Given the description of an element on the screen output the (x, y) to click on. 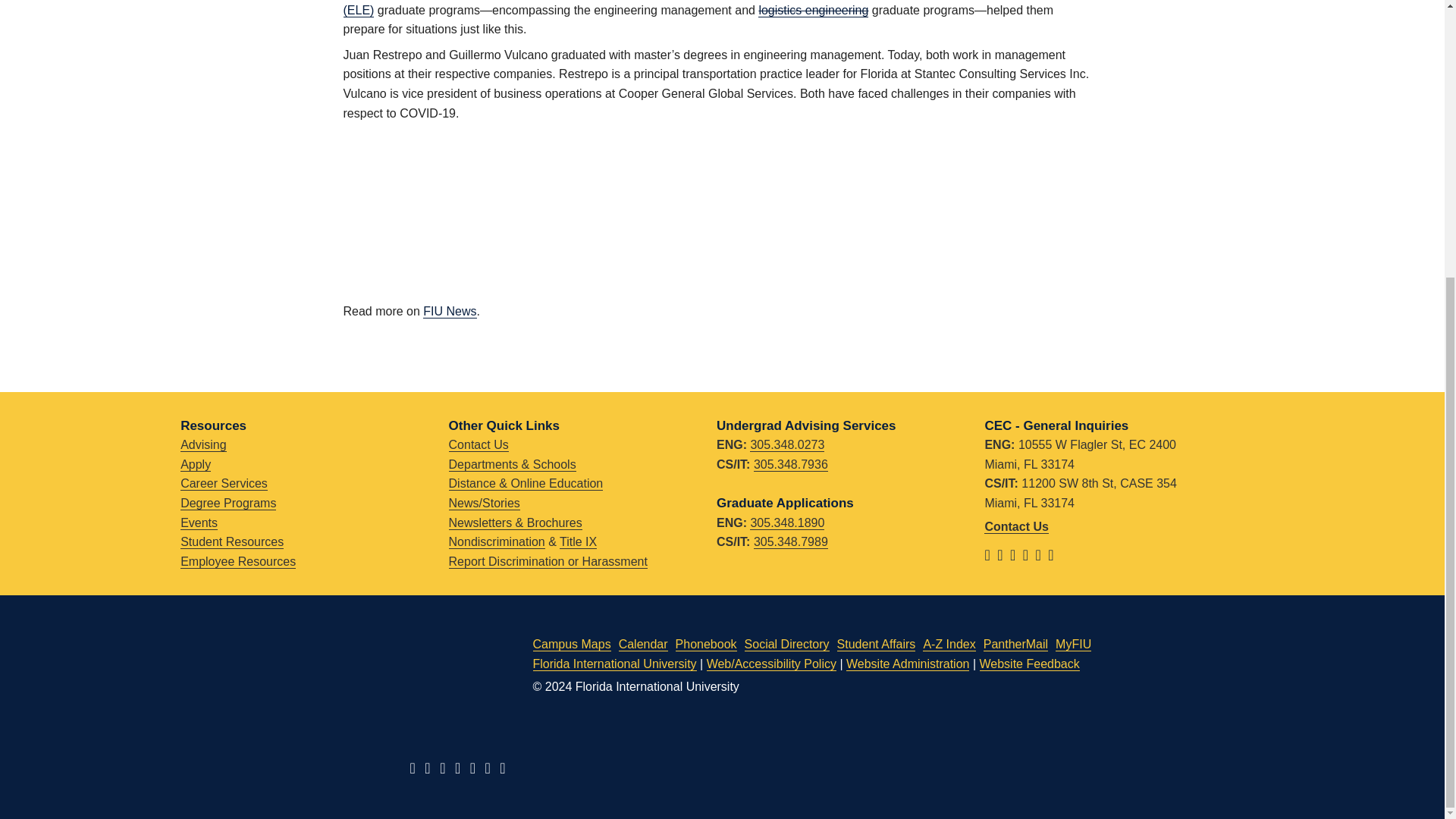
Follow us on Twitter (1003, 555)
